Given the description of an element on the screen output the (x, y) to click on. 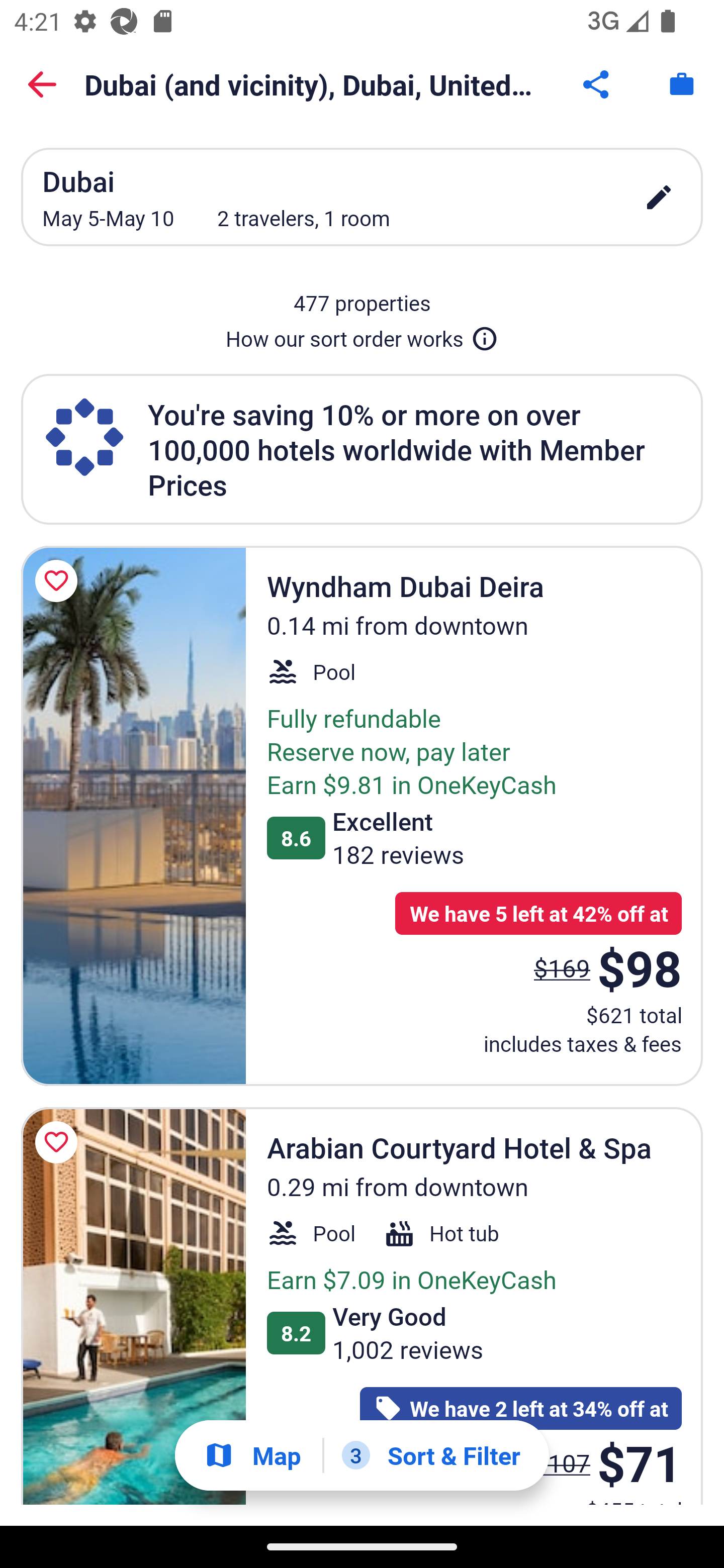
Back (42, 84)
Share Button (597, 84)
Trips. Button (681, 84)
Dubai May 5-May 10 2 travelers, 1 room edit (361, 196)
How our sort order works (361, 334)
Save Wyndham Dubai Deira to a trip (59, 580)
Wyndham Dubai Deira (133, 815)
$169 The price was $169 (561, 967)
Save Arabian Courtyard Hotel & Spa to a trip (59, 1141)
Arabian Courtyard Hotel & Spa (133, 1306)
3 Sort & Filter 3 Filters applied. Filters Button (430, 1455)
Show map Map Show map Button (252, 1455)
